Given the description of an element on the screen output the (x, y) to click on. 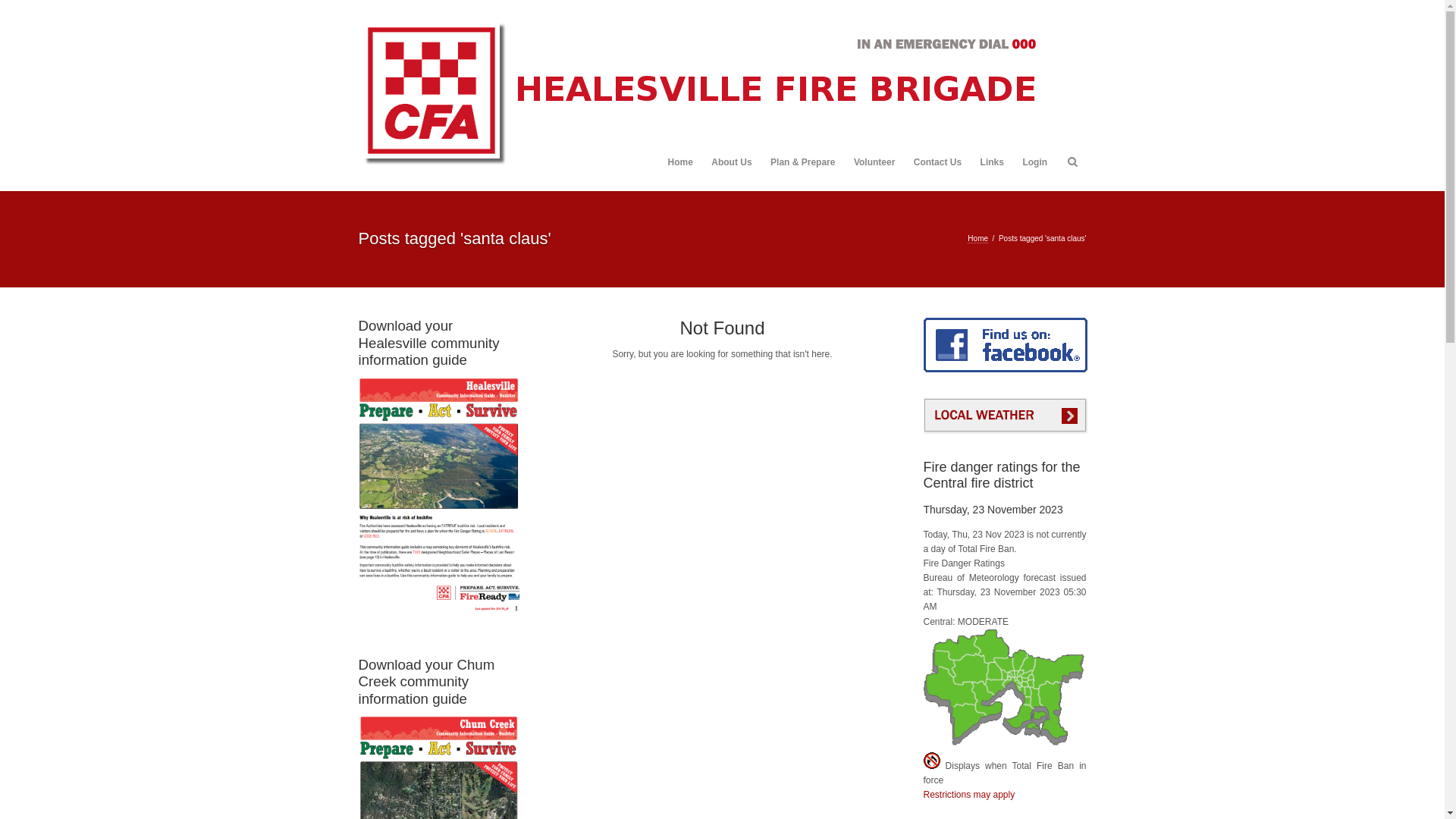
Volunteer Element type: text (874, 162)
Home Element type: text (679, 162)
Login Element type: text (1034, 162)
Restrictions may apply Element type: text (969, 794)
Home Element type: text (977, 238)
Links Element type: text (991, 162)
Download your Healesville community information guide Element type: text (438, 475)
Local weather Element type: hover (1005, 429)
Contact Us Element type: text (937, 162)
About Us Element type: text (731, 162)
Plan & Prepare Element type: text (802, 162)
